Given the description of an element on the screen output the (x, y) to click on. 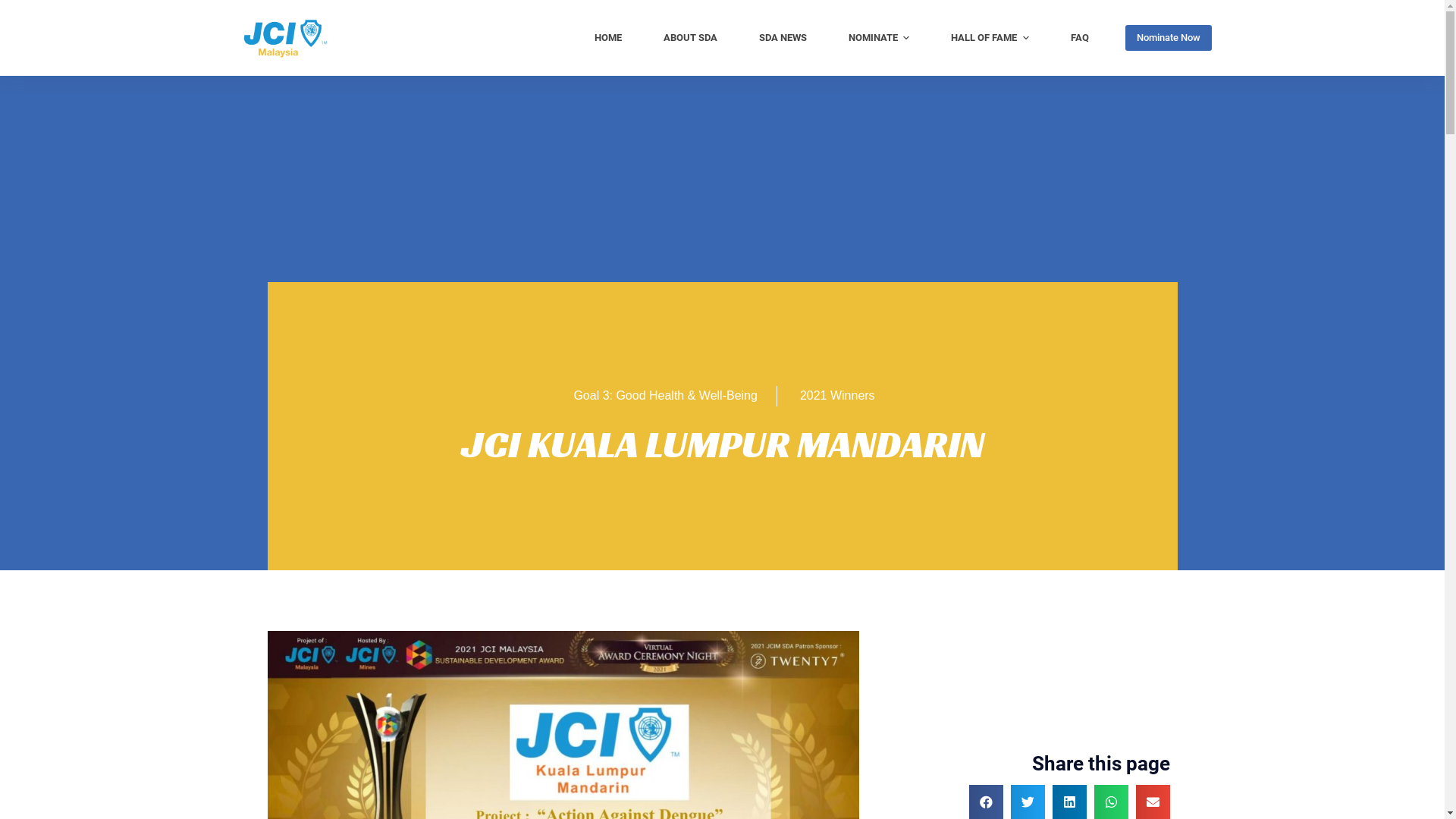
ABOUT SDA Element type: text (689, 37)
HOME Element type: text (607, 37)
NOMINATE Element type: text (878, 37)
FAQ Element type: text (1079, 37)
Goal 3: Good Health & Well-Being Element type: text (665, 395)
HALL OF FAME Element type: text (990, 37)
Skip to content Element type: text (15, 7)
Nominate Now Element type: text (1168, 37)
SDA NEWS Element type: text (782, 37)
2021 Winners Element type: text (837, 395)
